Given the description of an element on the screen output the (x, y) to click on. 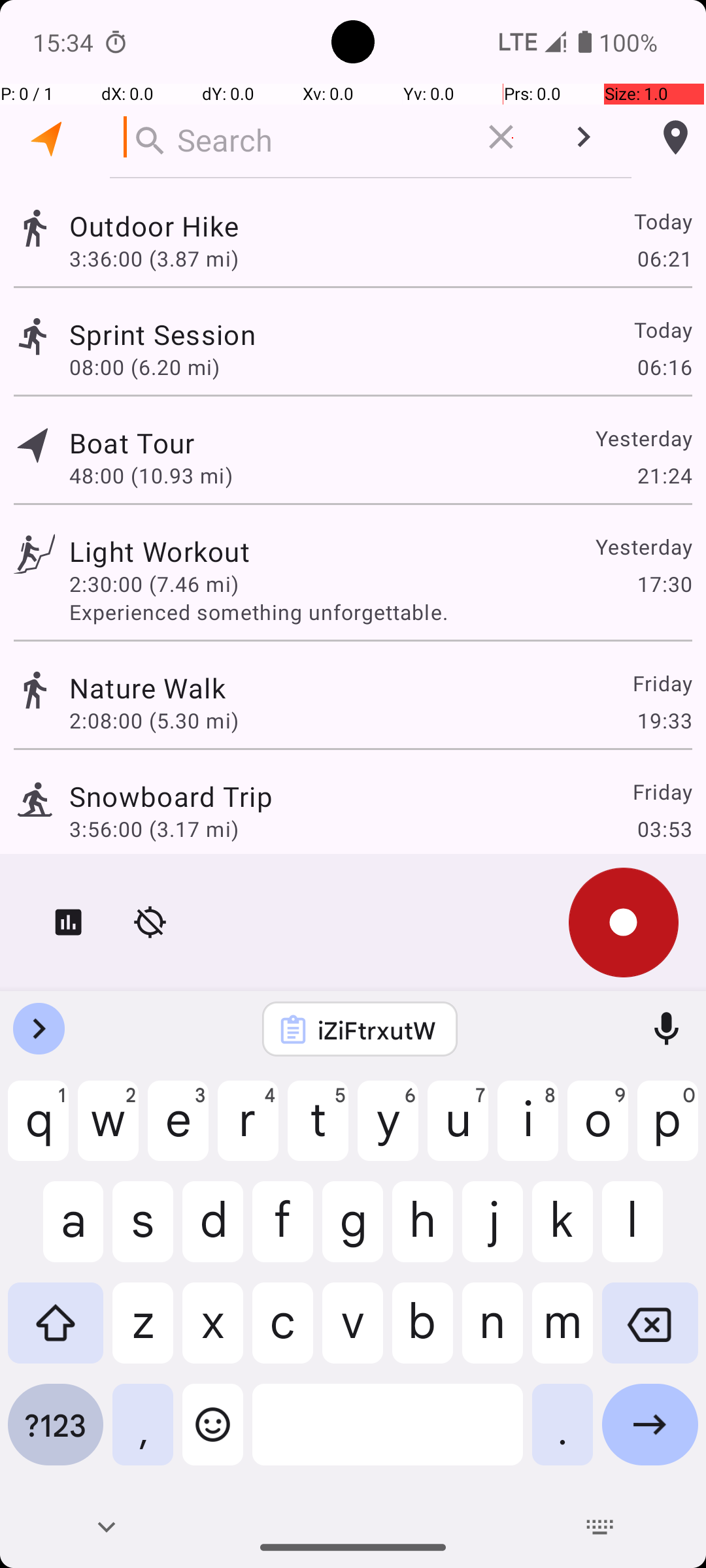
   Search Element type: android.widget.AutoCompleteTextView (287, 136)
Submit query Element type: android.widget.ImageView (583, 136)
Outdoor Hike Element type: android.widget.TextView (319, 225)
3:36:00 (3.87 mi) Element type: android.widget.TextView (153, 258)
06:21 Element type: android.widget.TextView (664, 258)
Sprint Session Element type: android.widget.TextView (162, 333)
08:00 (6.20 mi) Element type: android.widget.TextView (144, 366)
06:16 Element type: android.widget.TextView (664, 366)
Boat Tour Element type: android.widget.TextView (145, 442)
48:00 (10.93 mi) Element type: android.widget.TextView (150, 475)
21:24 Element type: android.widget.TextView (664, 475)
Light Workout Element type: android.widget.TextView (187, 550)
2:30:00 (7.46 mi) Element type: android.widget.TextView (153, 583)
17:30 Element type: android.widget.TextView (664, 583)
Experienced something unforgettable. Element type: android.widget.TextView (380, 611)
Nature Walk Element type: android.widget.TextView (153, 687)
2:08:00 (5.30 mi) Element type: android.widget.TextView (153, 720)
19:33 Element type: android.widget.TextView (664, 720)
Snowboard Trip Element type: android.widget.TextView (170, 795)
3:56:00 (3.17 mi) Element type: android.widget.TextView (153, 828)
03:53 Element type: android.widget.TextView (664, 828)
Go Element type: android.widget.FrameLayout (649, 1434)
iZiFtrxutW Element type: android.widget.TextView (376, 1029)
